Given the description of an element on the screen output the (x, y) to click on. 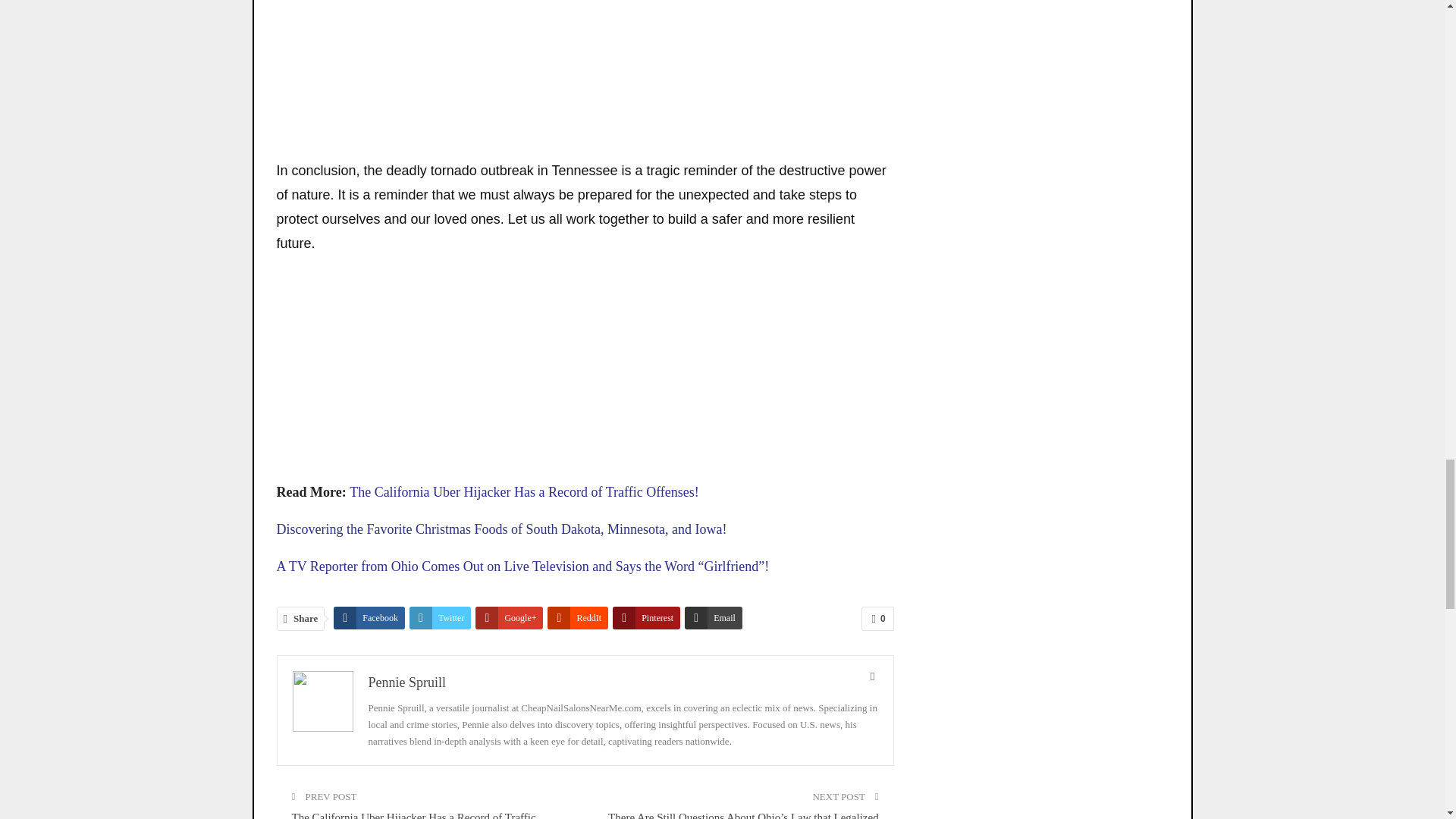
Facebook (368, 617)
ReddIt (577, 617)
Twitter (439, 617)
0 (877, 618)
